Given the description of an element on the screen output the (x, y) to click on. 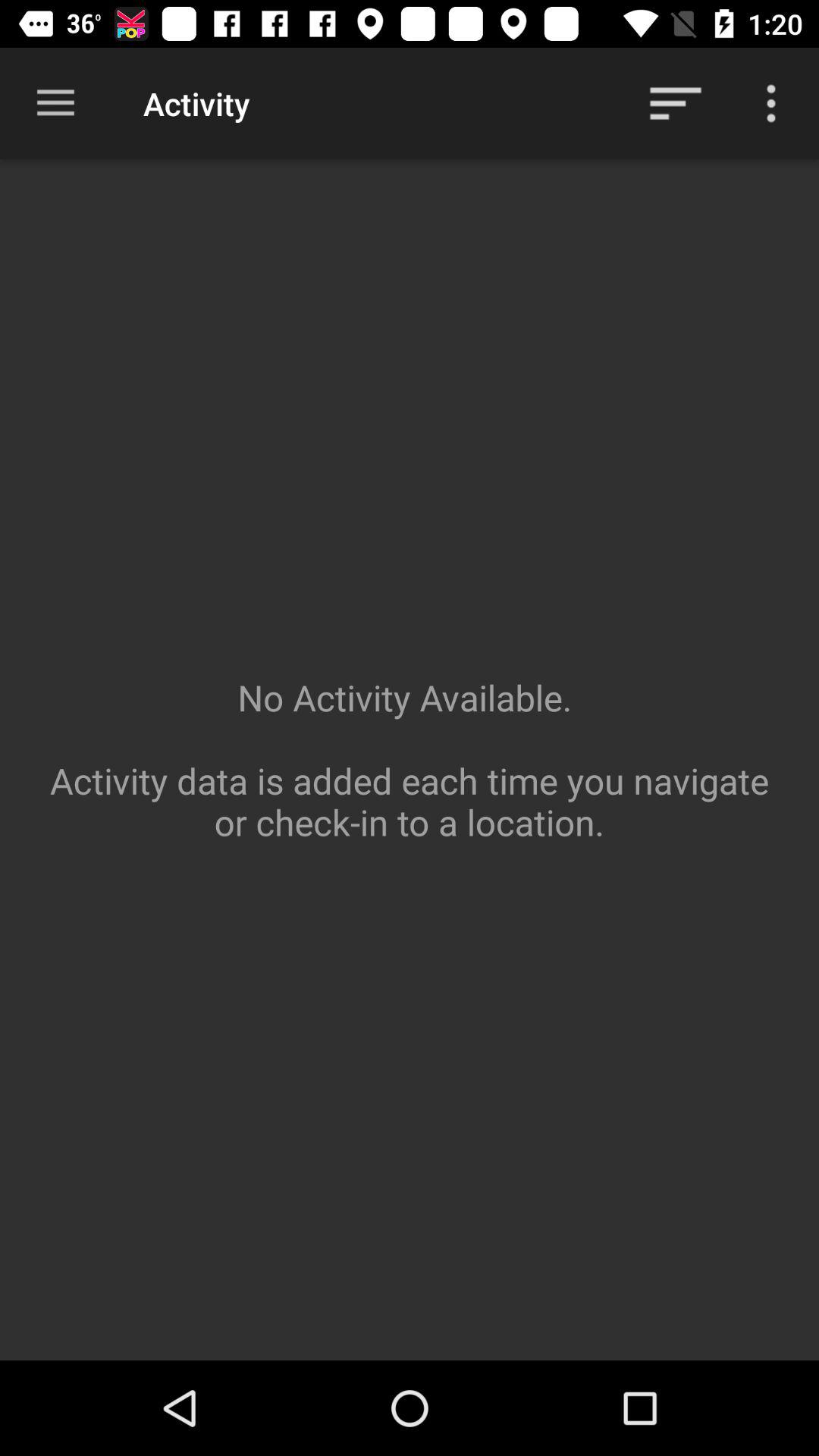
tap item to the left of the activity item (55, 103)
